Given the description of an element on the screen output the (x, y) to click on. 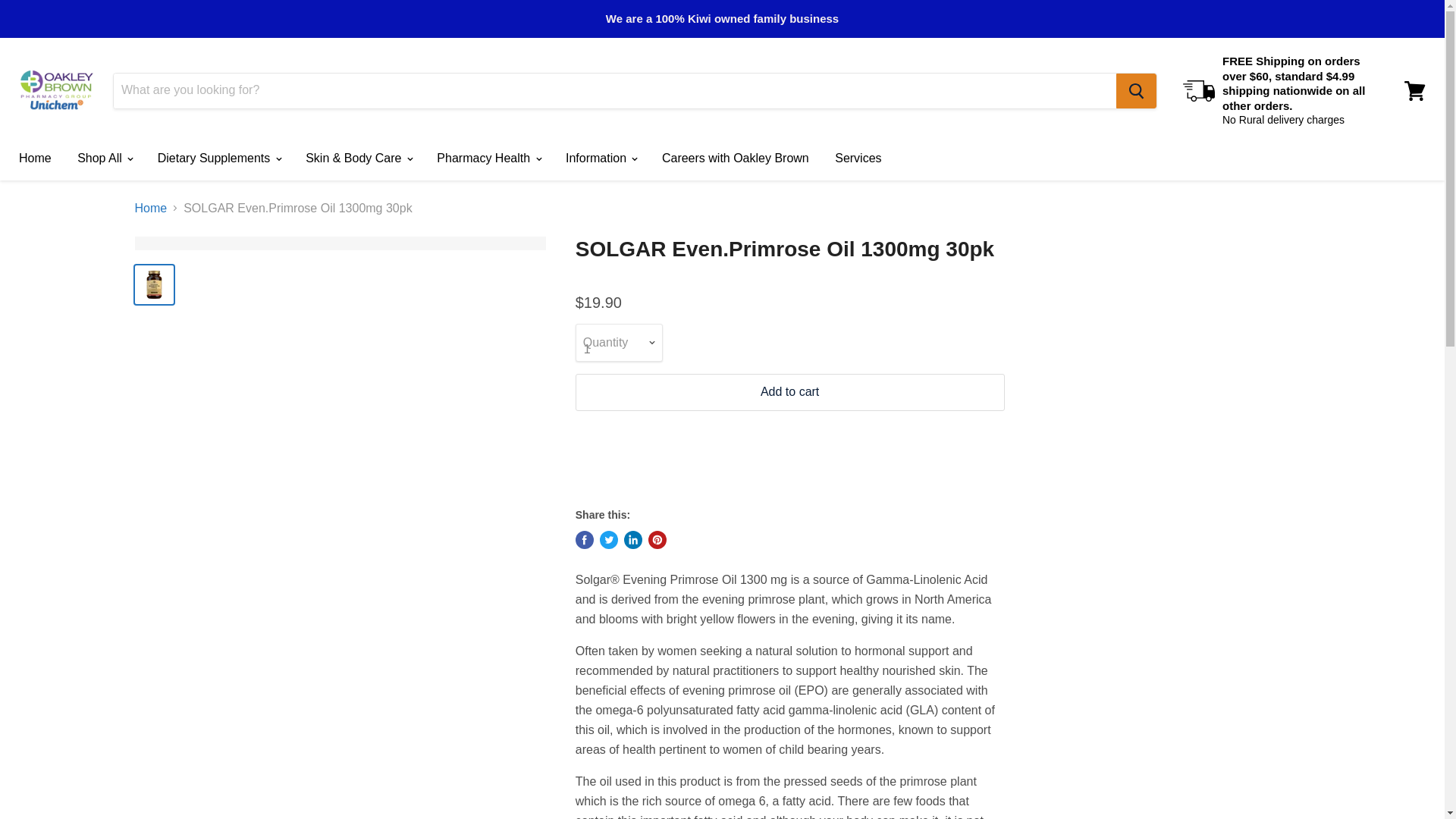
Dietary Supplements (219, 158)
View cart (1414, 89)
Home (34, 158)
Shop All (103, 158)
